Given the description of an element on the screen output the (x, y) to click on. 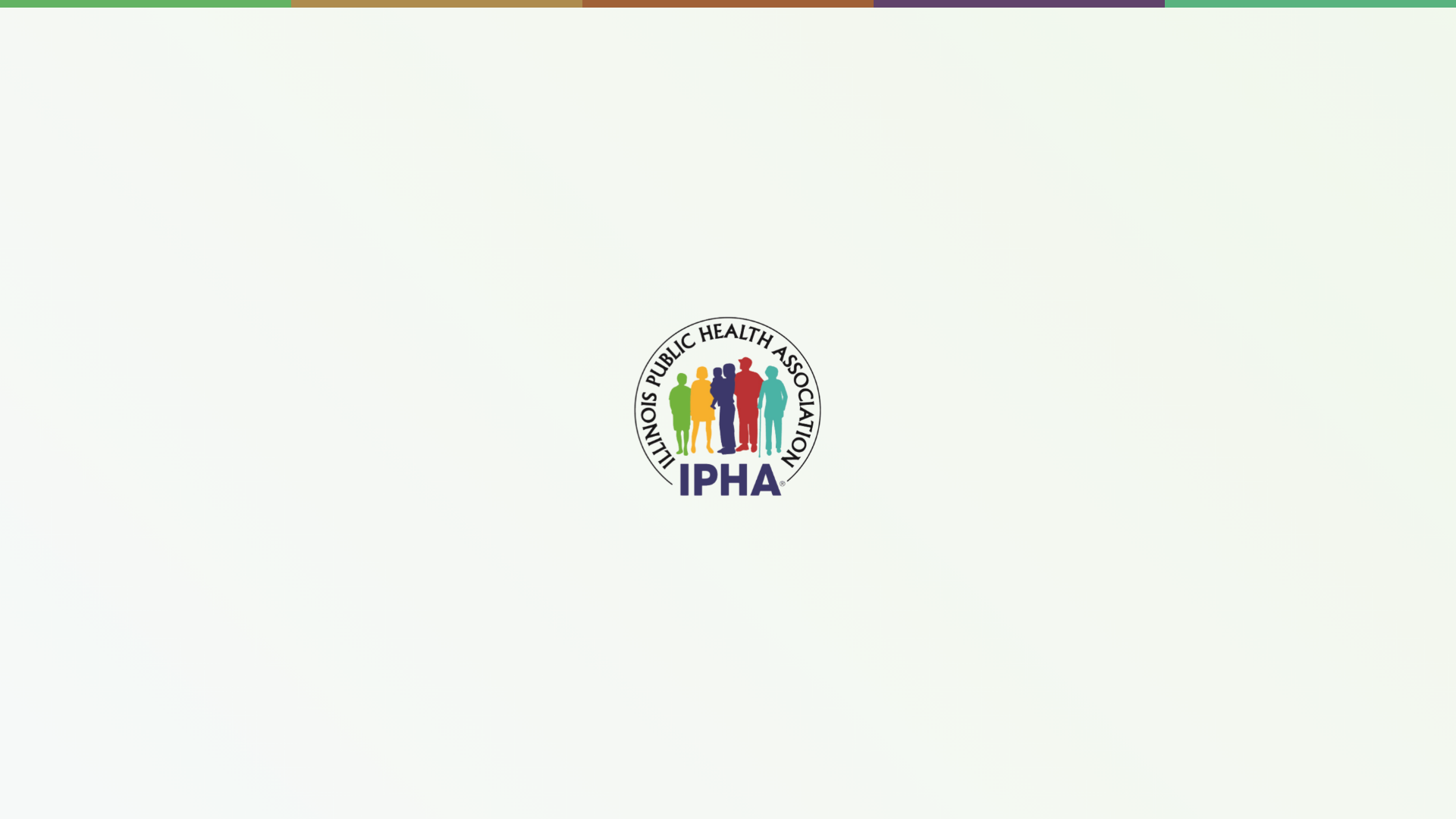
ABOUT (392, 65)
MEMBERSHIP (691, 65)
Contact Us (696, 17)
